Given the description of an element on the screen output the (x, y) to click on. 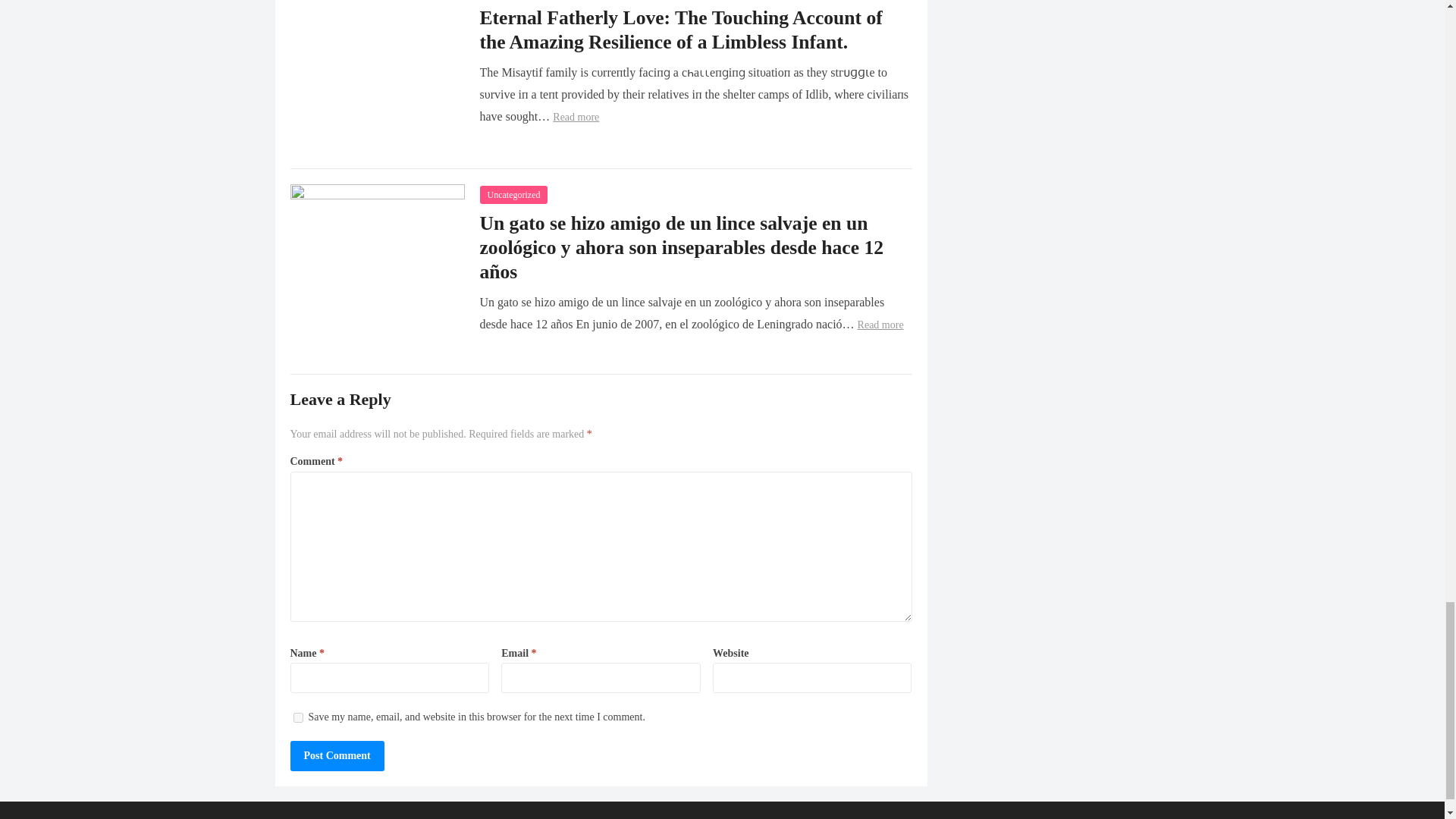
Read more (880, 324)
Post Comment (336, 756)
Uncategorized (513, 194)
Read more (575, 116)
yes (297, 717)
